Given the description of an element on the screen output the (x, y) to click on. 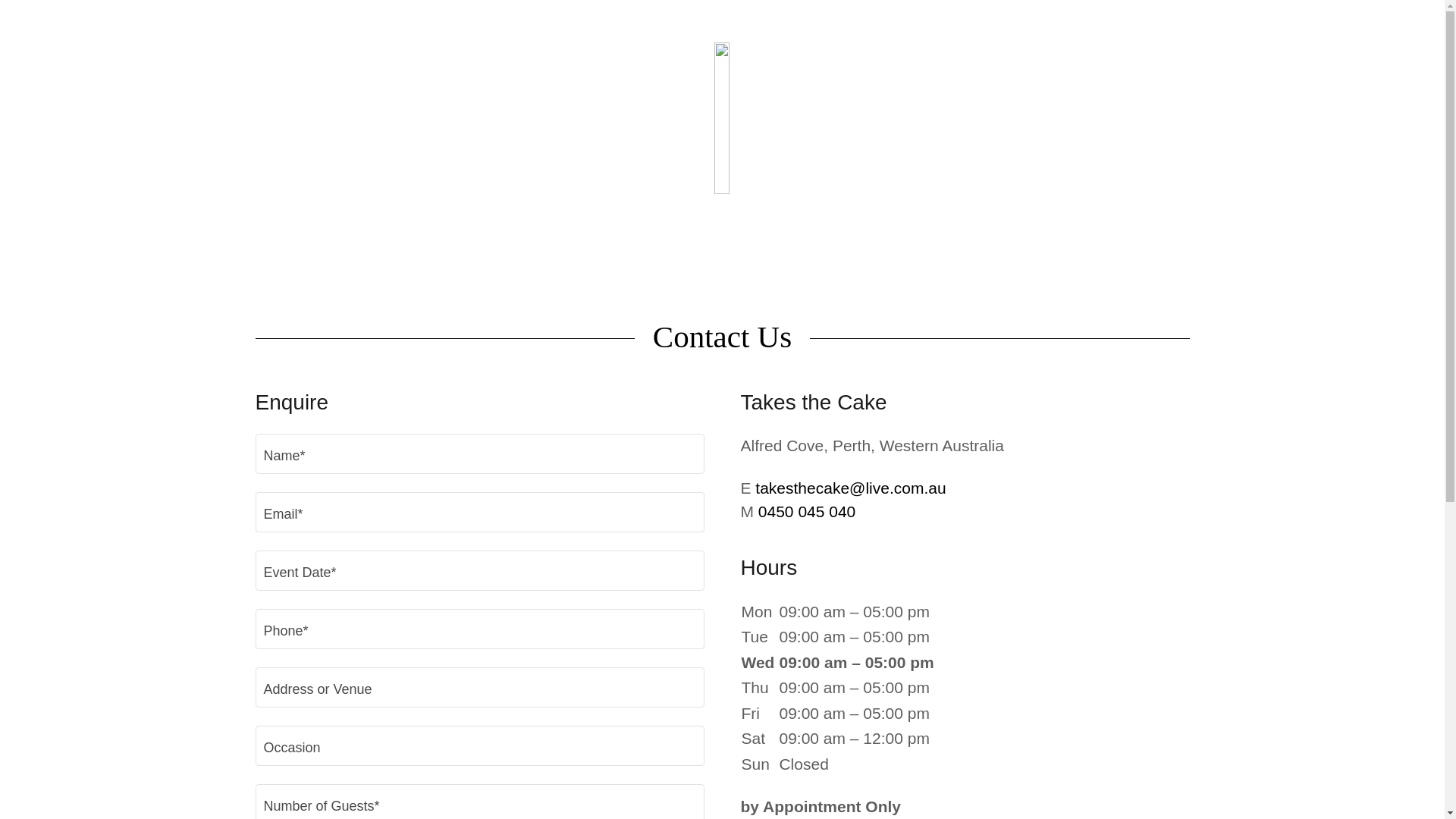
0450 045 040 Element type: text (806, 511)
takesthecake@live.com.au Element type: text (850, 487)
